Given the description of an element on the screen output the (x, y) to click on. 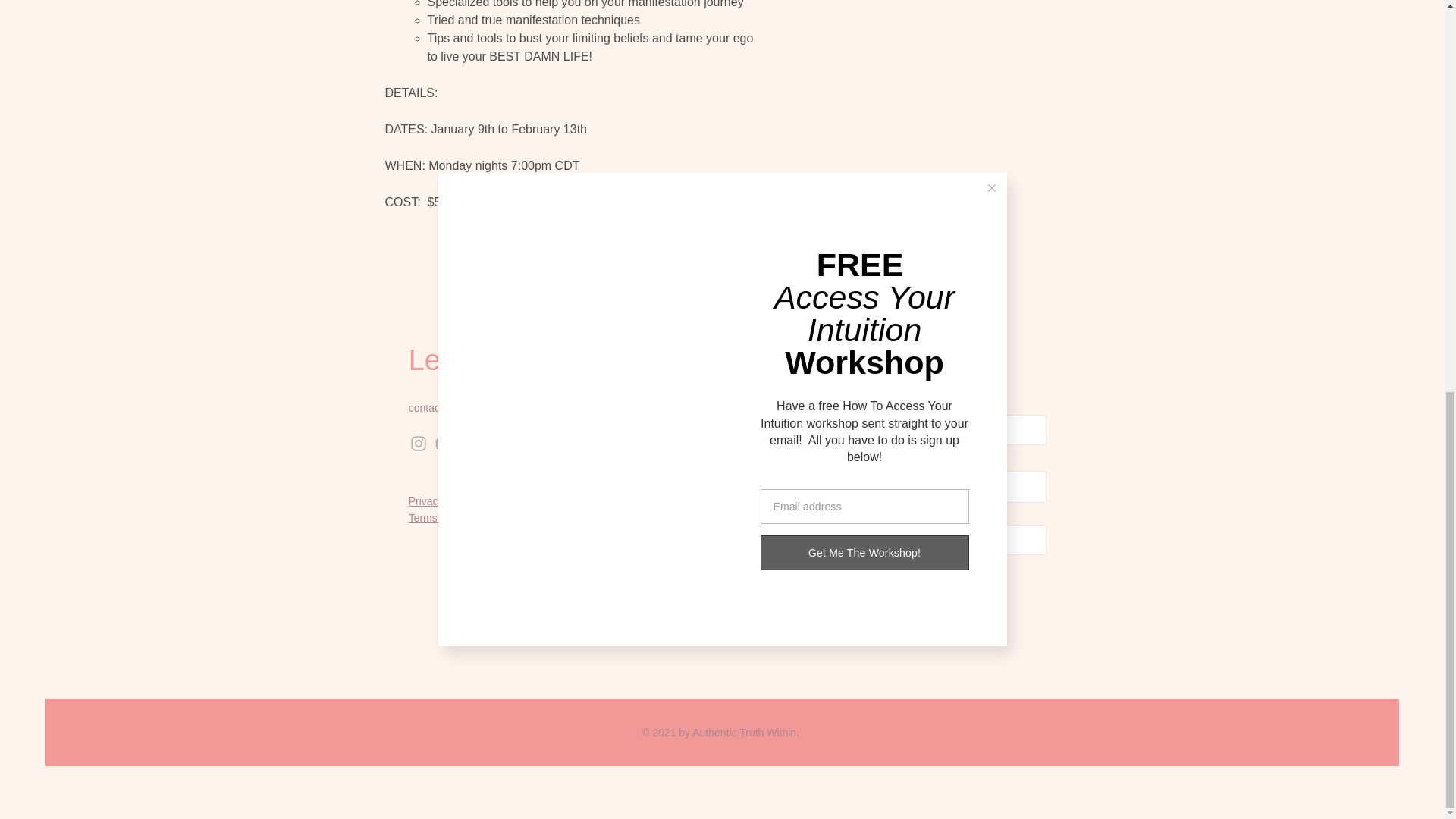
Subscribe (905, 593)
Privacy Policy (441, 500)
